Given the description of an element on the screen output the (x, y) to click on. 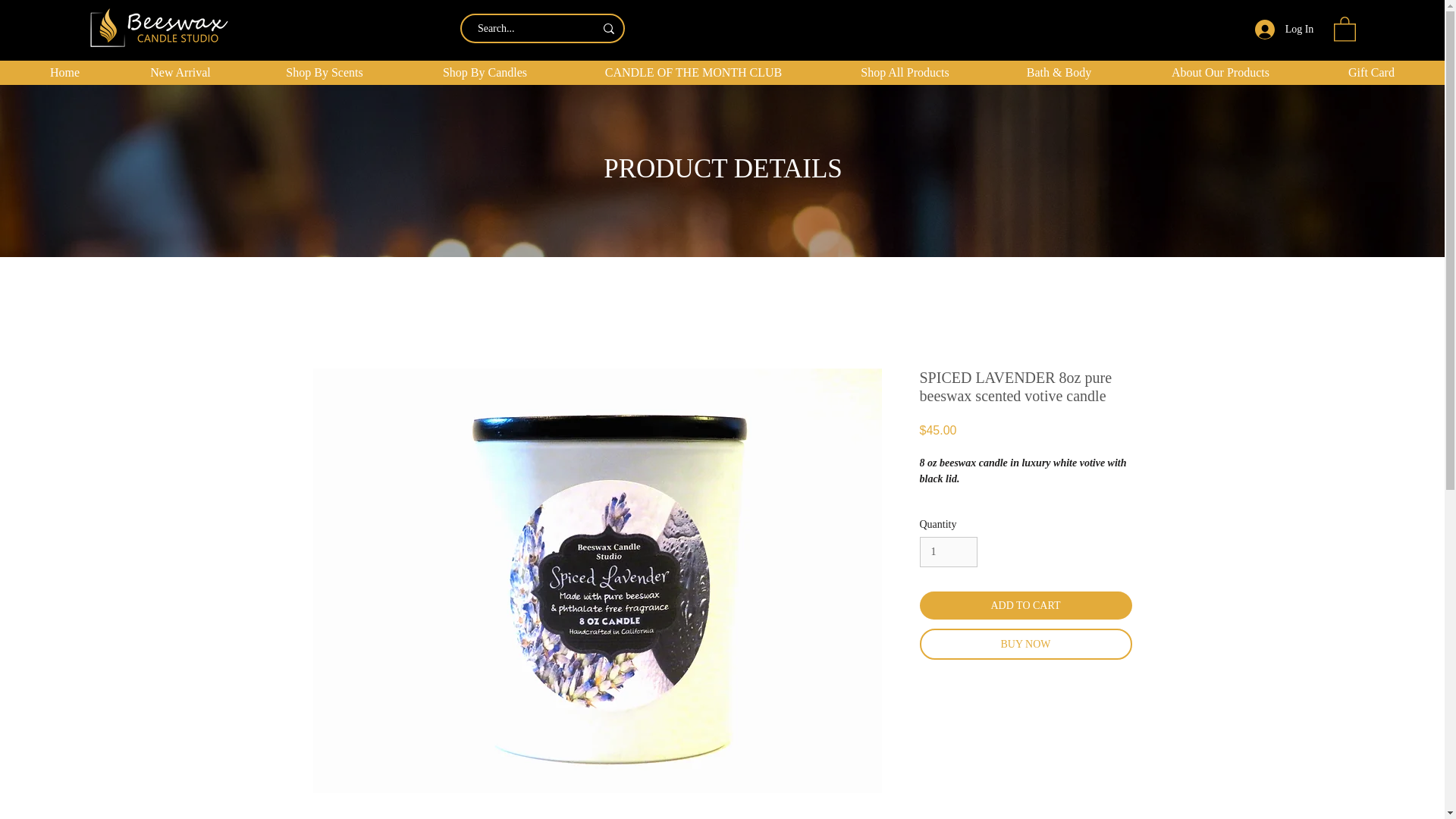
ADD TO CART (1024, 605)
Home (64, 72)
Log In (1284, 29)
About Our Products (1219, 72)
BUY NOW (1024, 644)
New Arrival (180, 72)
CANDLE OF THE MONTH CLUB (693, 72)
1 (947, 552)
Gift Card (1371, 72)
Shop All Products (904, 72)
